Given the description of an element on the screen output the (x, y) to click on. 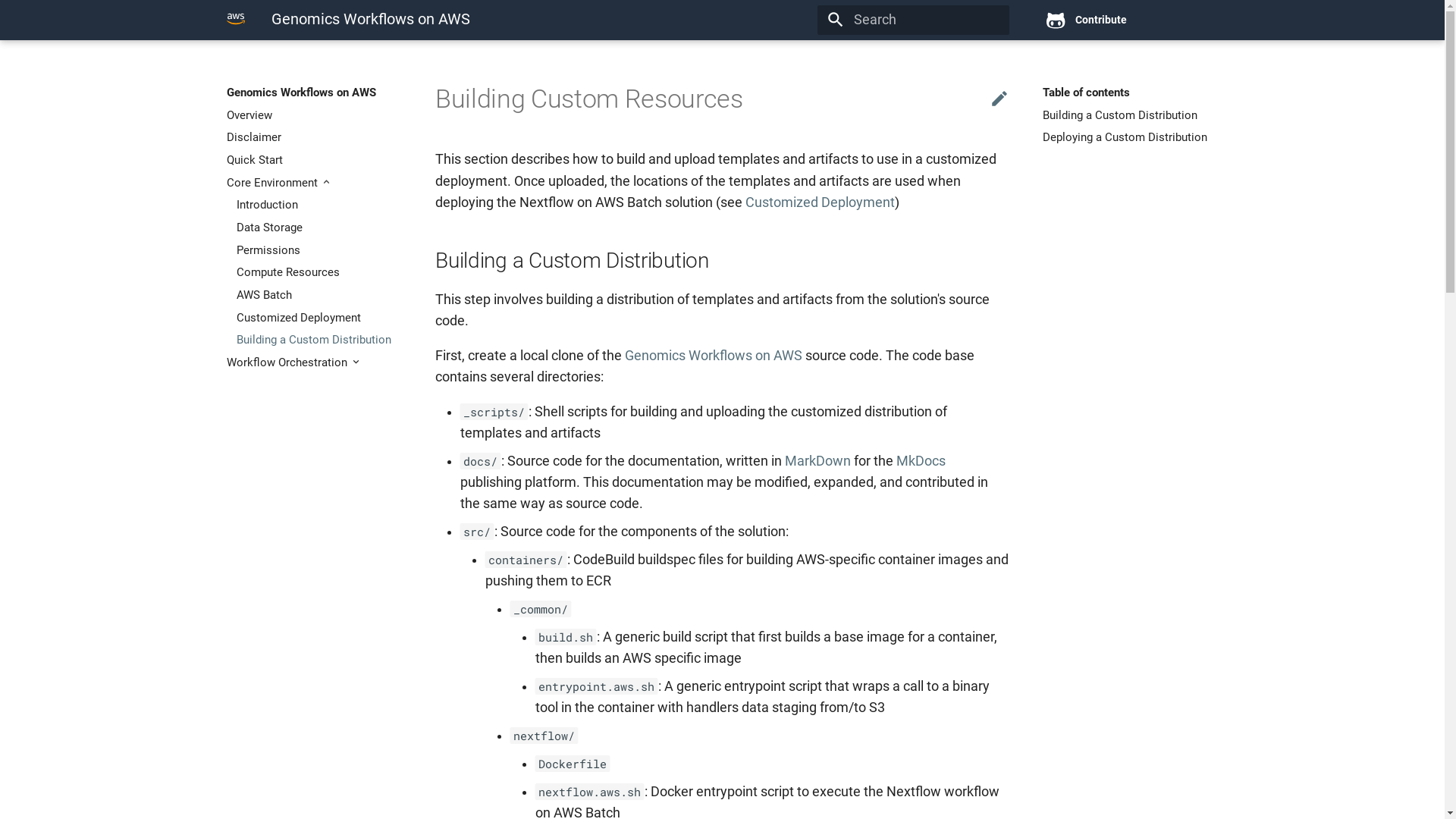
Overview Element type: text (313, 114)
Contribute Element type: text (1126, 20)
Compute Resources Element type: text (318, 271)
Building a Custom Distribution Element type: text (1129, 114)
Data Storage Element type: text (318, 227)
Deploying a Custom Distribution Element type: text (1129, 136)
Genomics Workflows on AWS Element type: text (713, 355)
Introduction Element type: text (318, 204)
MkDocs Element type: text (920, 460)
Quick Start Element type: text (313, 159)
Disclaimer Element type: text (313, 136)
Genomics Workflows on AWS Element type: hover (235, 18)
AWS Batch Element type: text (318, 294)
MarkDown Element type: text (817, 460)
Permissions Element type: text (318, 249)
Customized Deployment Element type: text (318, 317)
Building a Custom Distribution Element type: text (318, 339)
Customized Deployment Element type: text (819, 202)
